Given the description of an element on the screen output the (x, y) to click on. 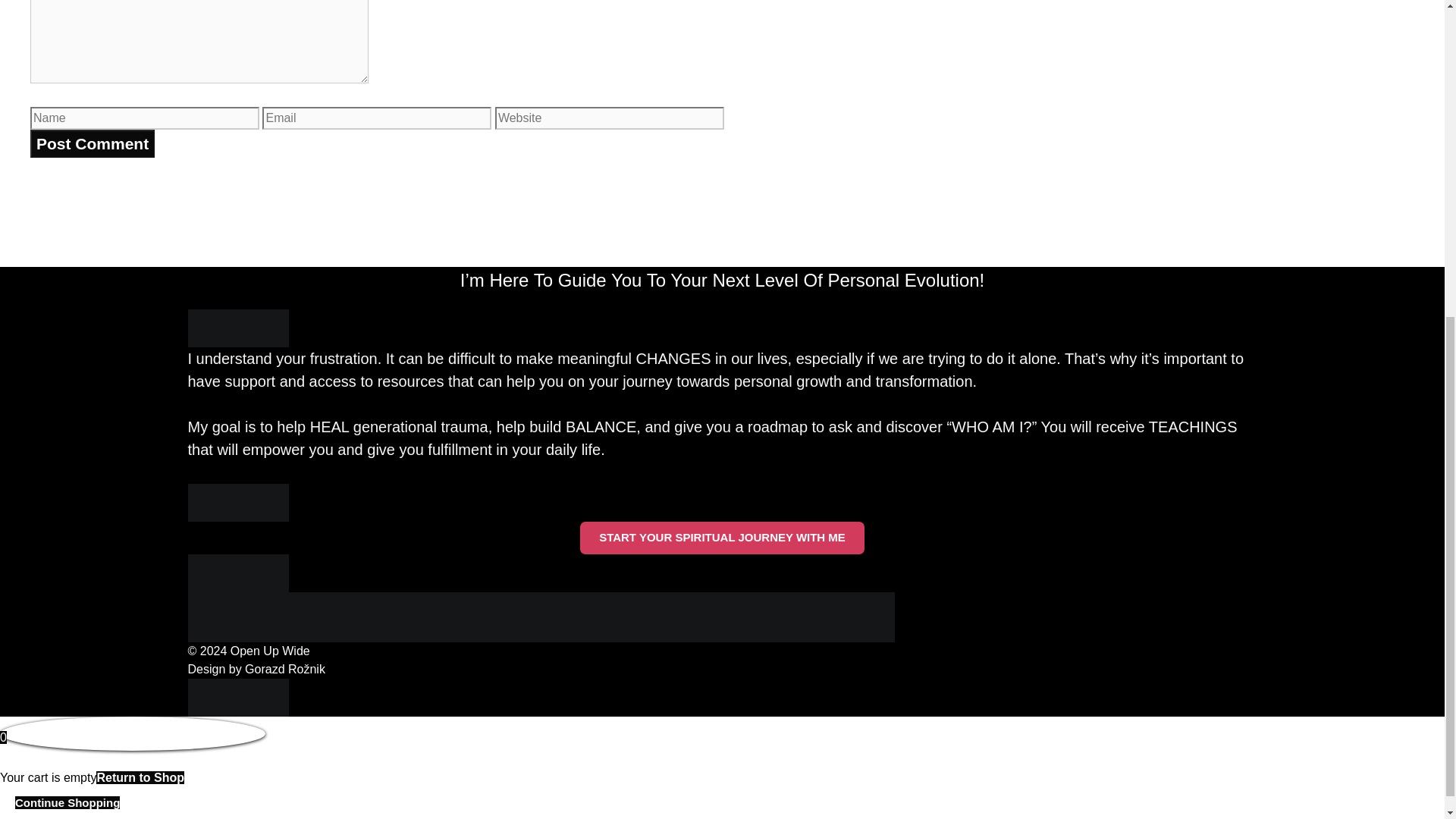
Post Comment (92, 143)
START YOUR SPIRITUAL JOURNEY WITH ME (721, 537)
Post Comment (92, 143)
